Given the description of an element on the screen output the (x, y) to click on. 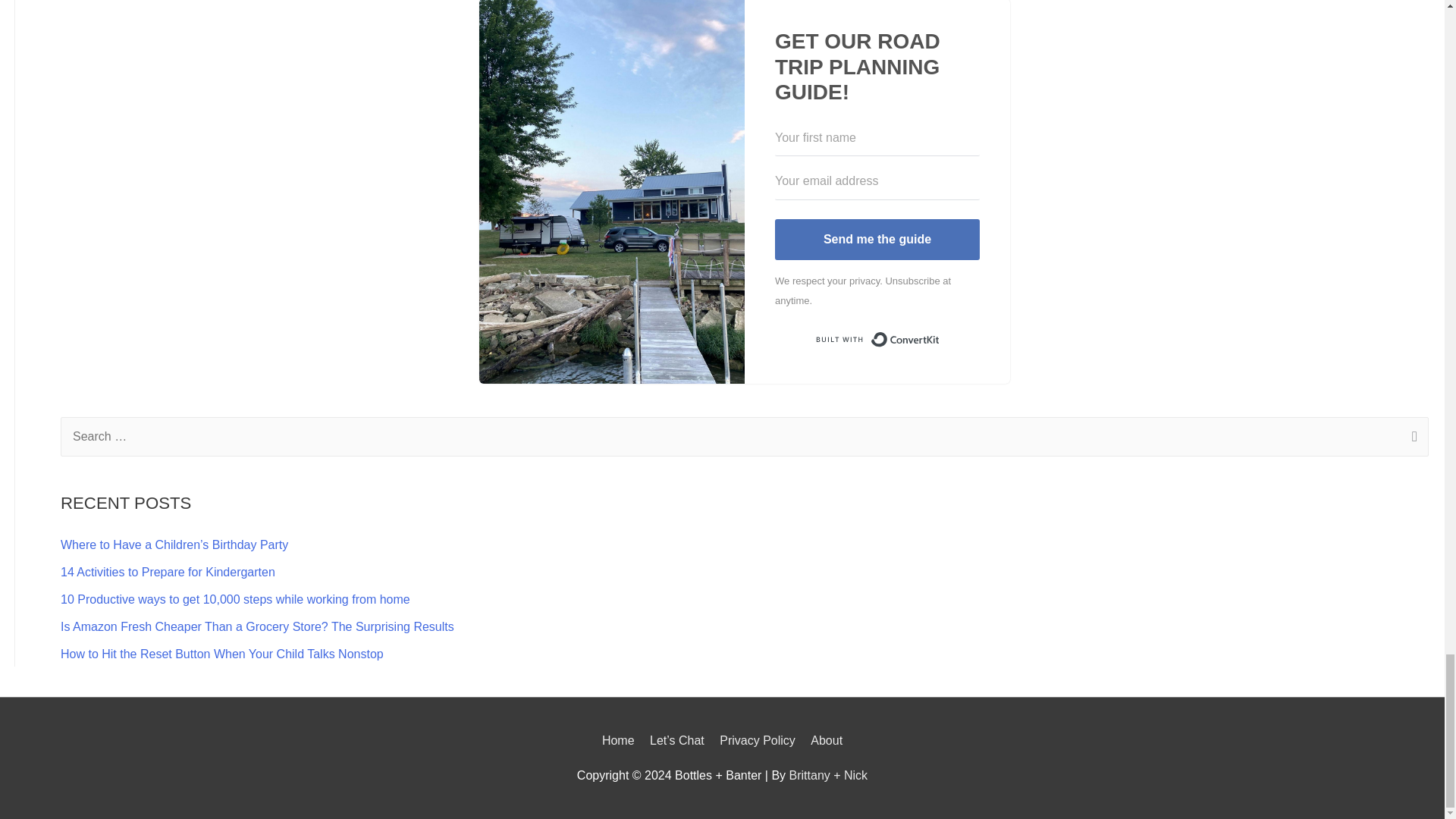
How to Hit the Reset Button When Your Child Talks Nonstop (222, 653)
Privacy Policy (757, 739)
Built with ConvertKit (876, 338)
About (824, 739)
14 Activities to Prepare for Kindergarten (168, 571)
Send me the guide (876, 239)
Home (621, 739)
